Given the description of an element on the screen output the (x, y) to click on. 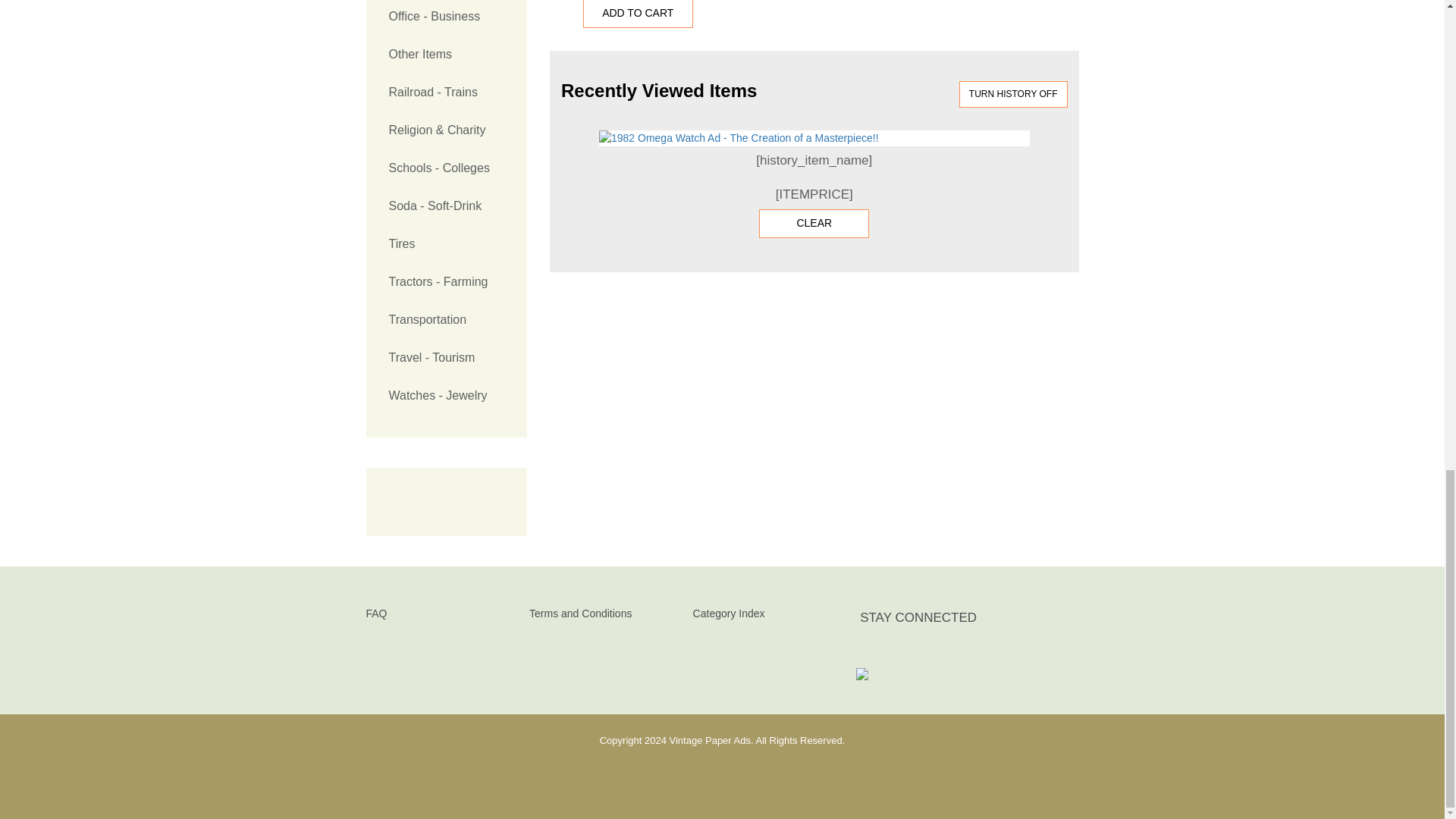
Office - Business (445, 18)
Like Us on Facebook (871, 650)
Other Items (445, 54)
Follow Us on Pinterest (941, 650)
Follow Us on Instagram (975, 650)
Follow Us on Twitter (906, 650)
